Given the description of an element on the screen output the (x, y) to click on. 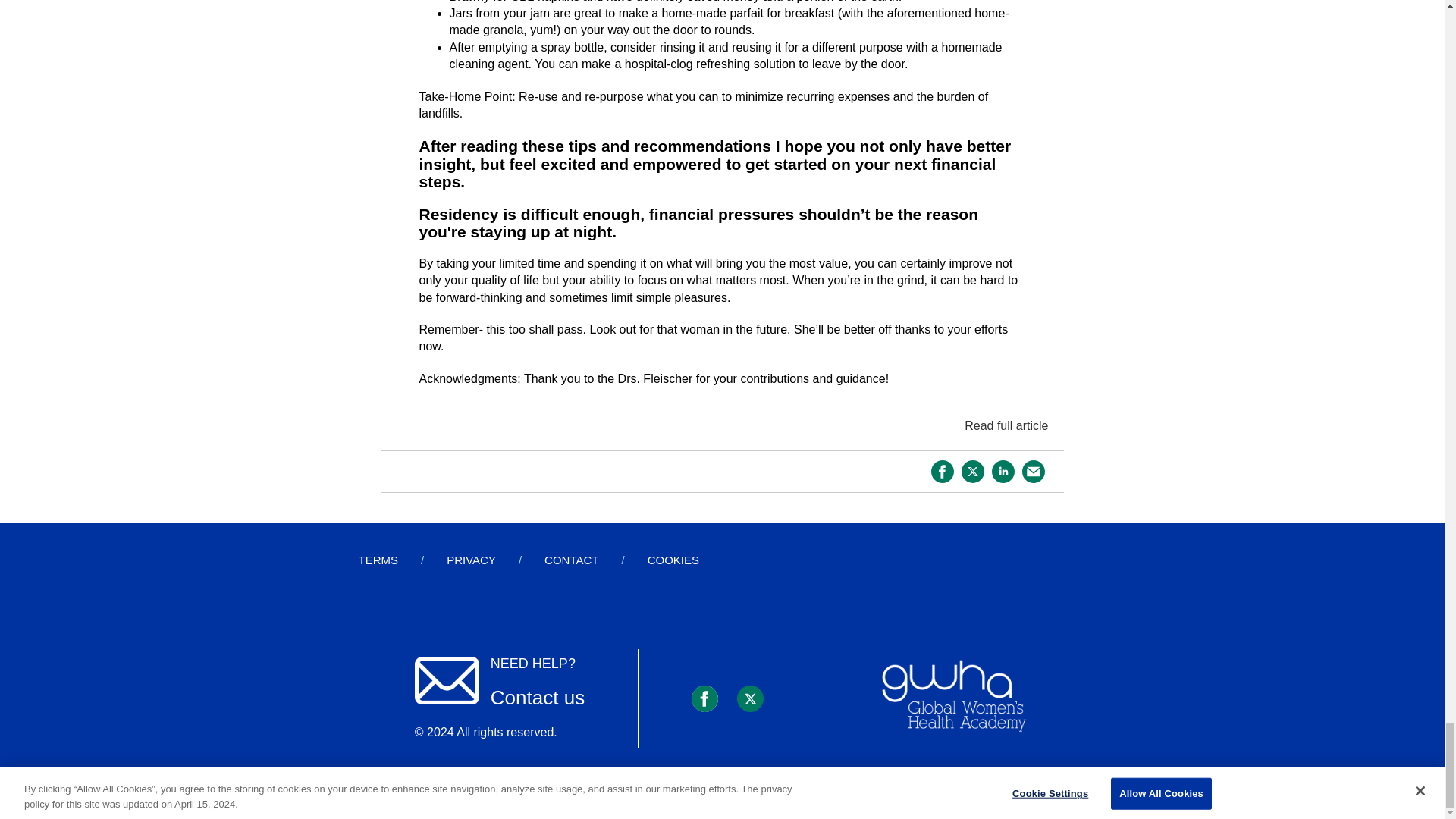
Global Women's Health Academy (953, 696)
Global Women's Health Academy (953, 698)
Twitter (749, 698)
